Given the description of an element on the screen output the (x, y) to click on. 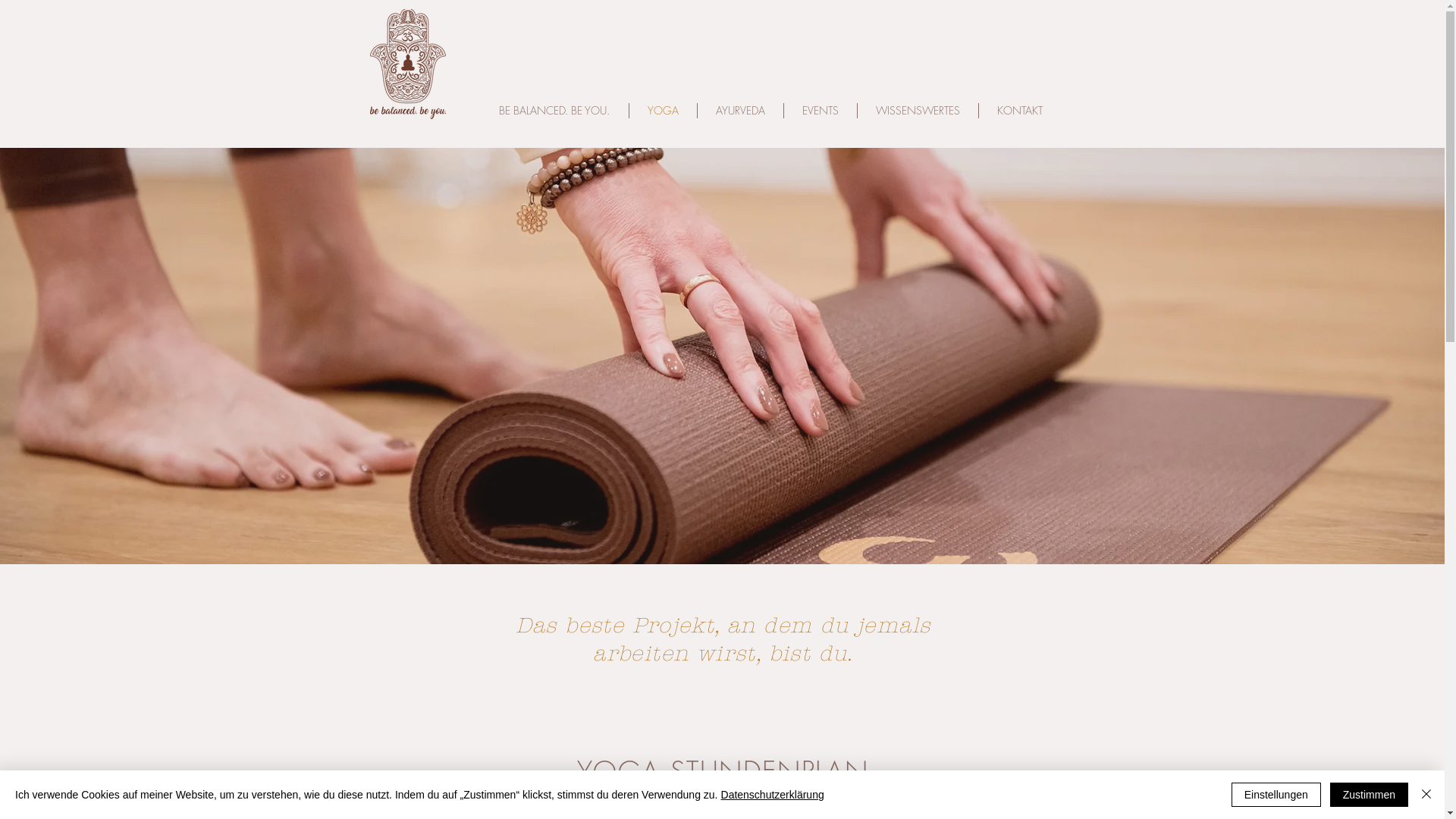
AYURVEDA Element type: text (740, 110)
BE BALANCED. BE YOU. Element type: text (554, 110)
Zustimmen Element type: text (1369, 794)
YOGA Element type: text (662, 110)
EVENTS Element type: text (820, 110)
WISSENSWERTES Element type: text (916, 110)
Einstellungen Element type: text (1276, 794)
KONTAKT Element type: text (1019, 110)
